Given the description of an element on the screen output the (x, y) to click on. 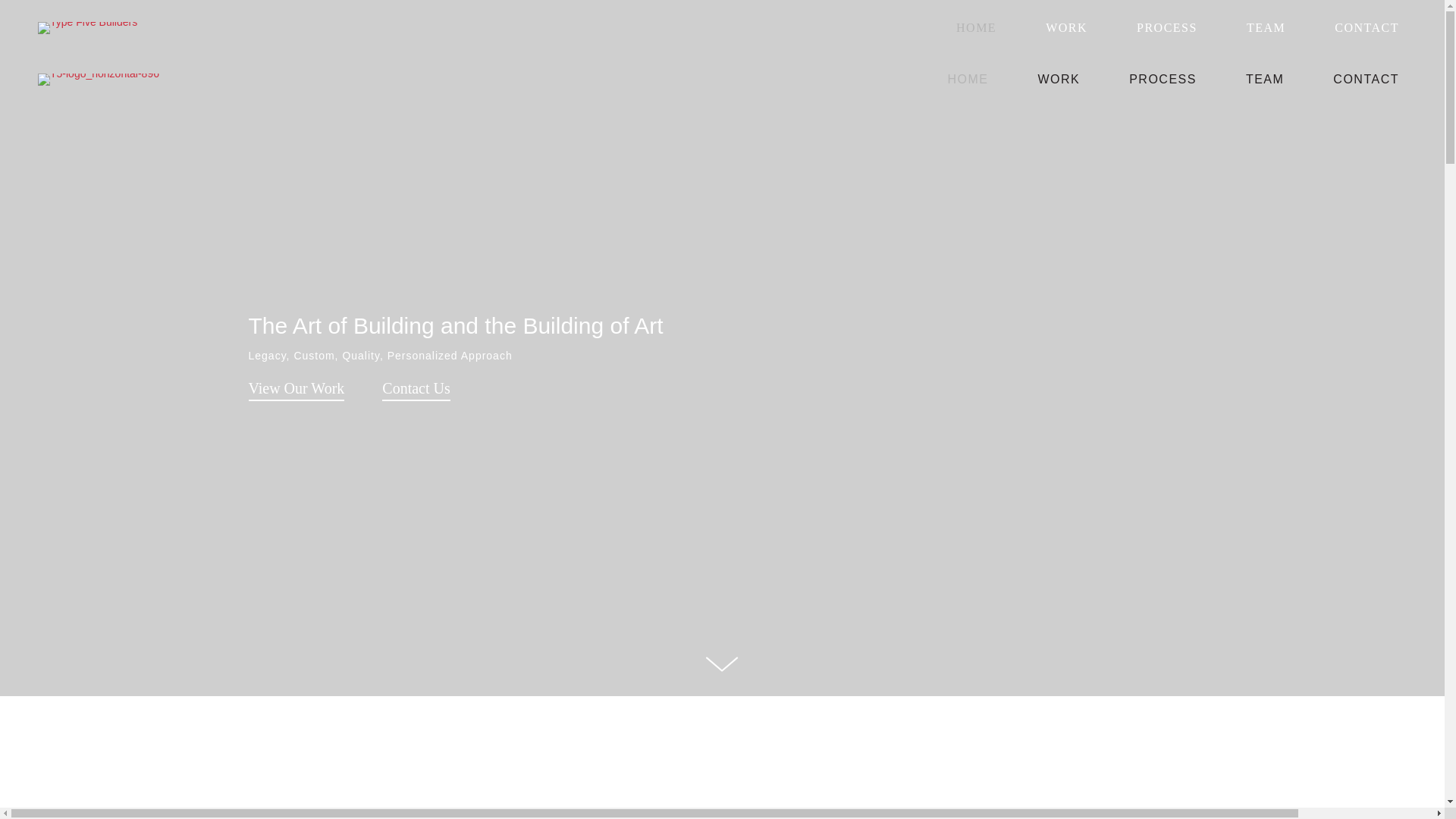
CONTACT (1365, 79)
HOME (967, 79)
TEAM (1265, 79)
TEAM (1265, 27)
HOME (976, 27)
WORK (1066, 27)
PROCESS (1167, 27)
CONTACT (1366, 27)
WORK (1058, 79)
PROCESS (1162, 79)
